Given the description of an element on the screen output the (x, y) to click on. 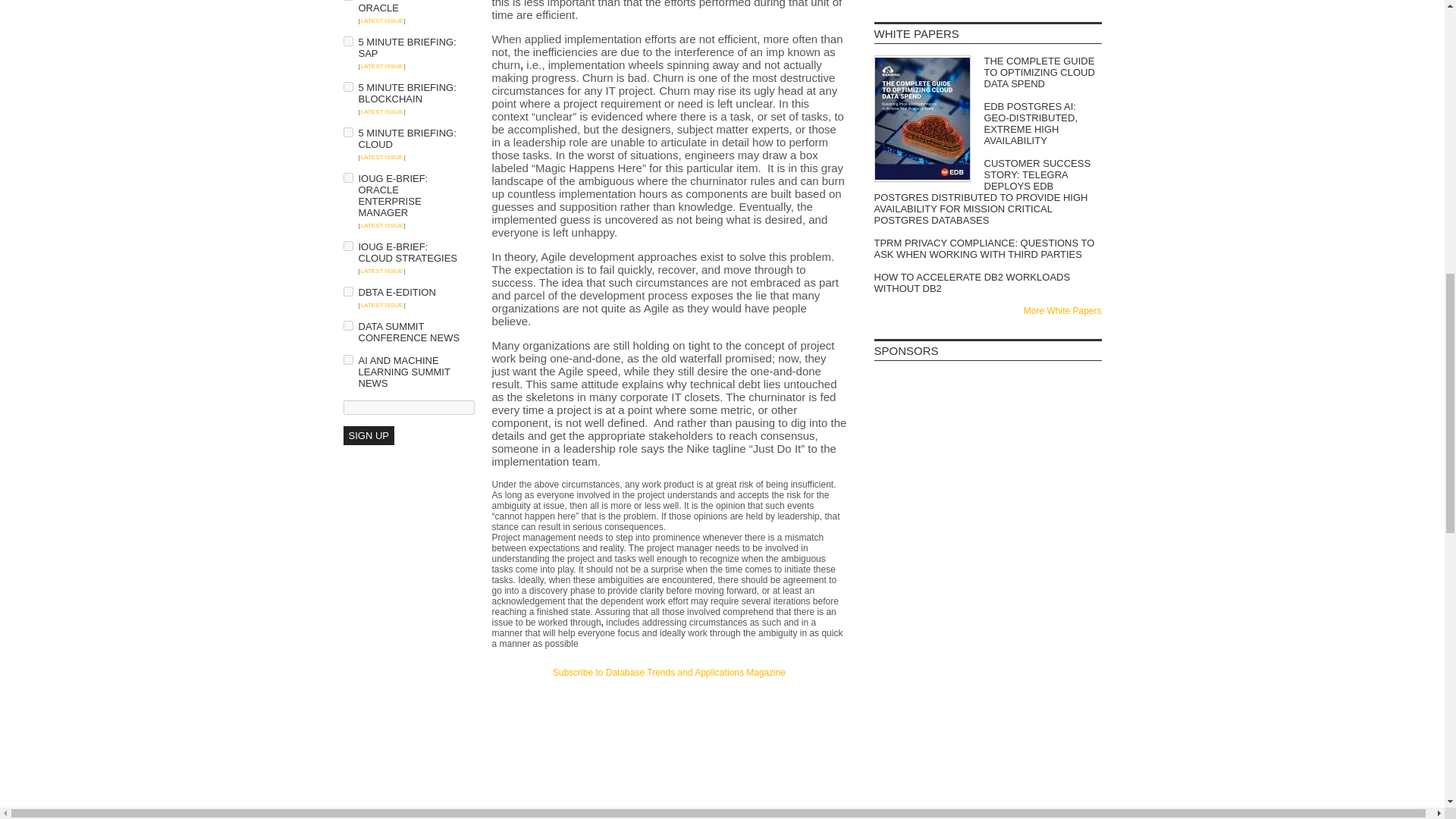
on (347, 245)
EDB Postgres Ai: Geo-distributed, Extreme High Availability (986, 123)
on (347, 132)
3rd party ad content (986, 500)
on (347, 291)
on (347, 359)
on (347, 40)
on (347, 177)
